Given the description of an element on the screen output the (x, y) to click on. 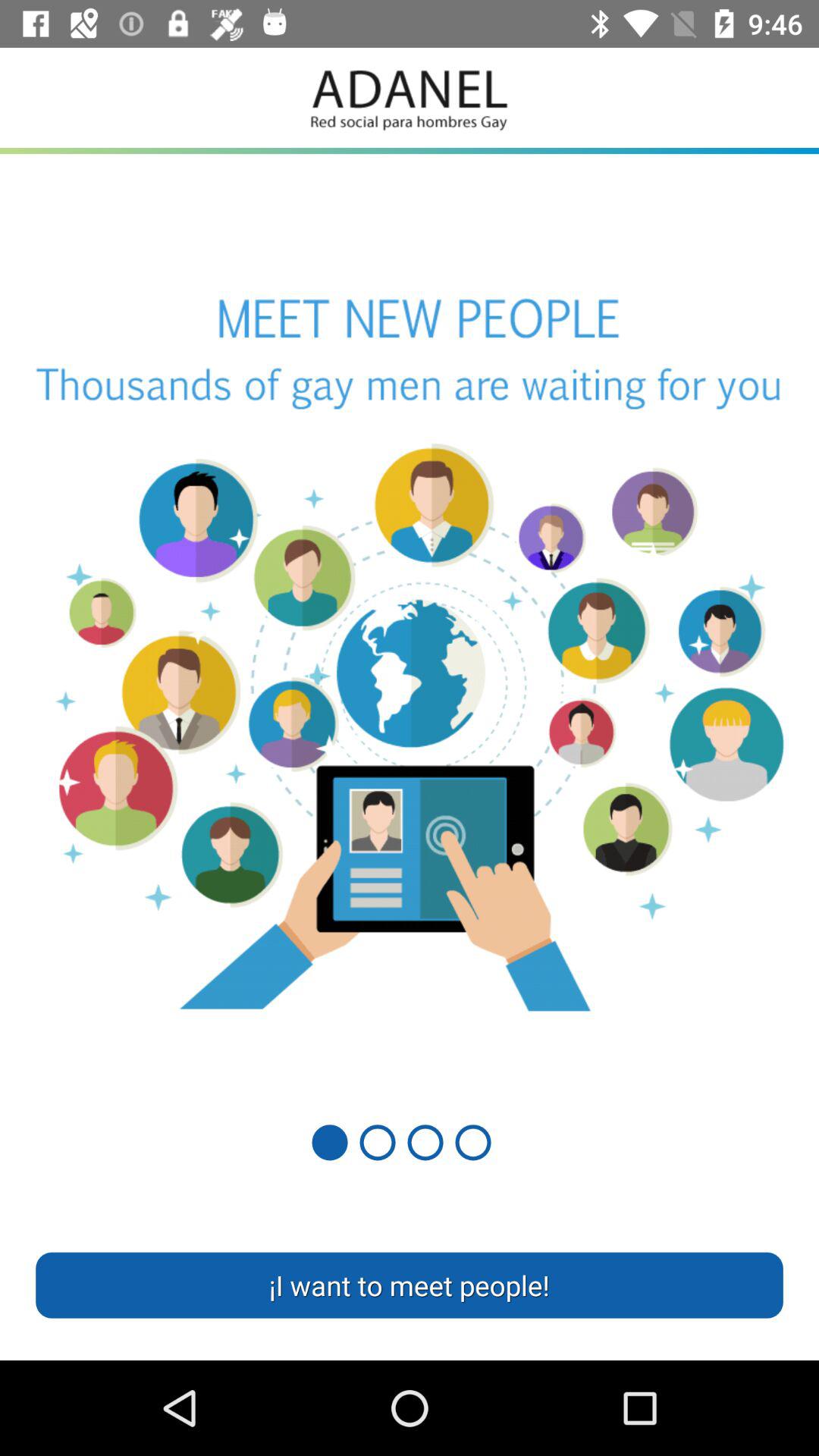
flip until the i want to icon (409, 1285)
